Given the description of an element on the screen output the (x, y) to click on. 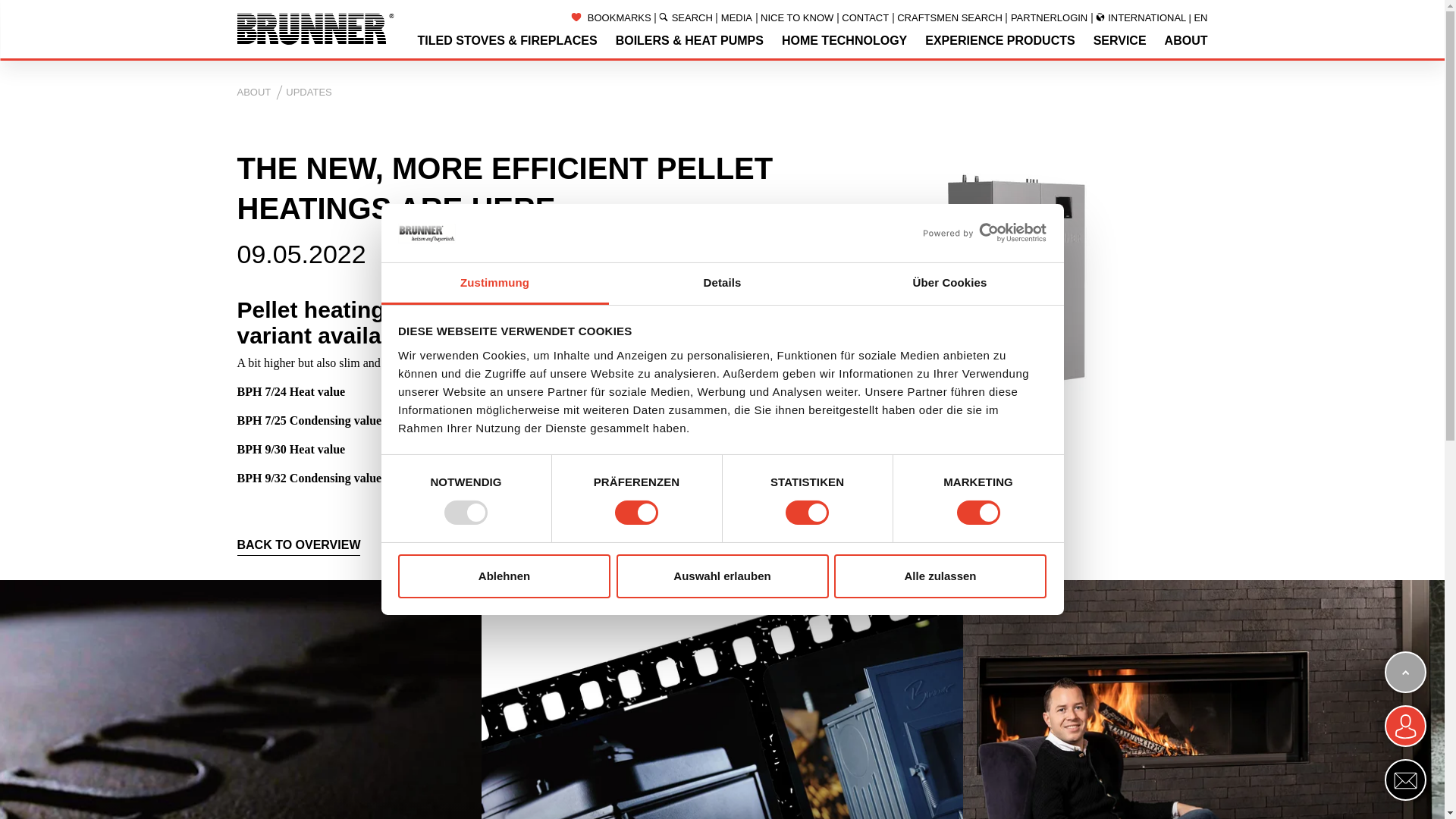
Zustimmung (494, 283)
Details (721, 283)
